Given the description of an element on the screen output the (x, y) to click on. 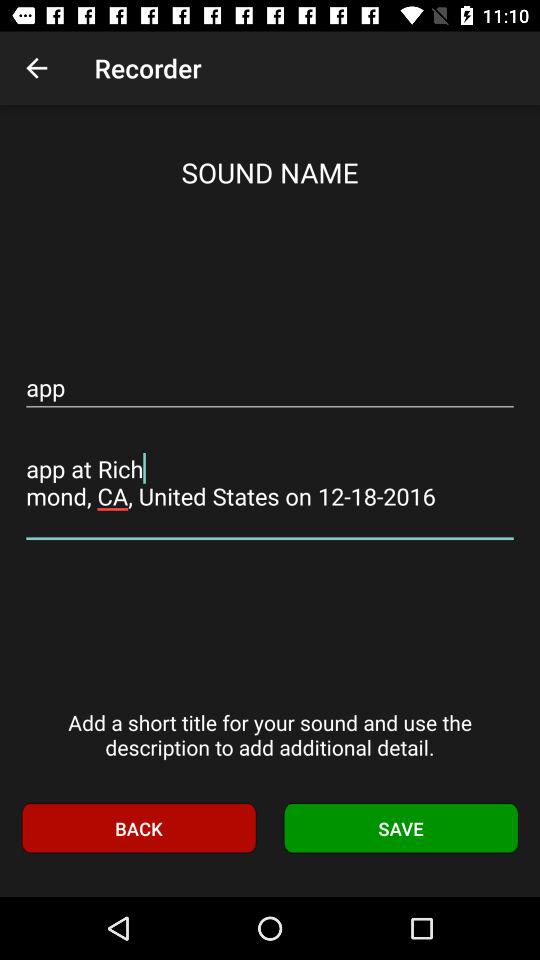
tap icon below add a short icon (138, 828)
